Given the description of an element on the screen output the (x, y) to click on. 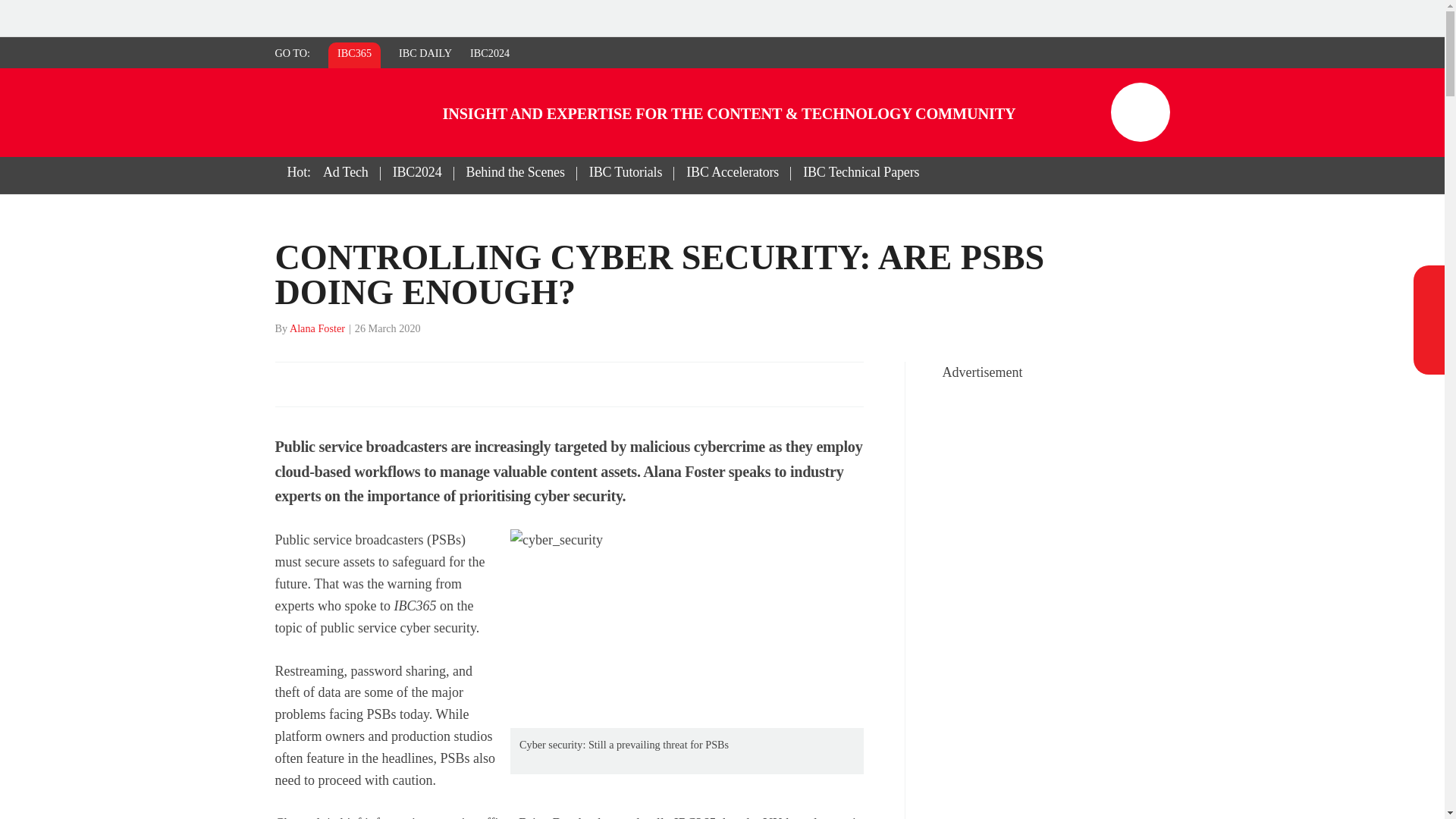
Share this on Twitter (320, 383)
Email this article (386, 383)
Behind the Scenes (515, 171)
LinkedIn (1427, 333)
Facebook (1427, 280)
IBC2024 (489, 52)
Search our site (1085, 110)
IBC Accelerators (732, 171)
IBC Tutorials (625, 171)
Instagram (1427, 307)
